Given the description of an element on the screen output the (x, y) to click on. 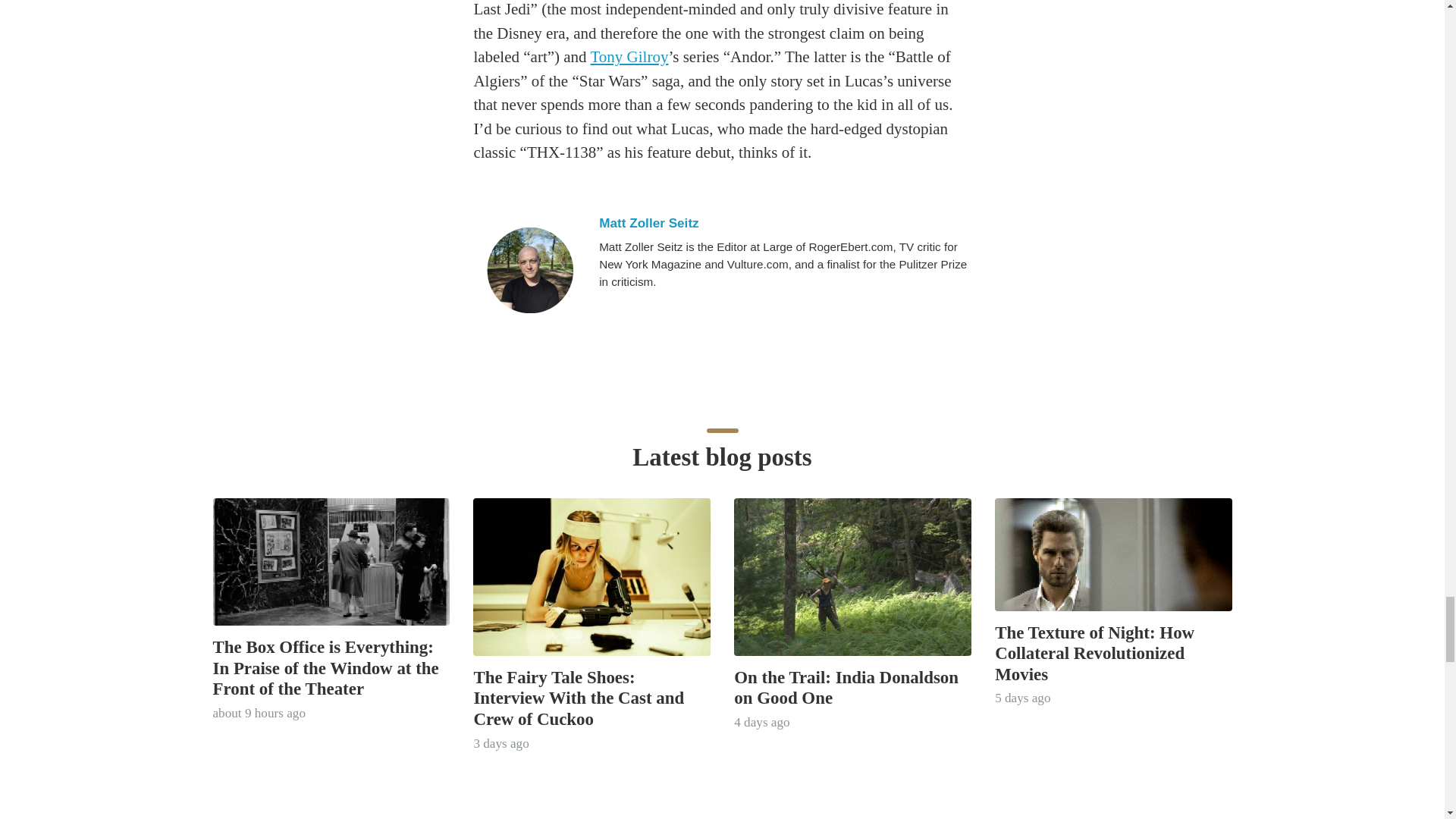
Matt Zoller Seitz (782, 222)
Tony Gilroy (628, 56)
Matt Zoller Seitz (529, 270)
